Given the description of an element on the screen output the (x, y) to click on. 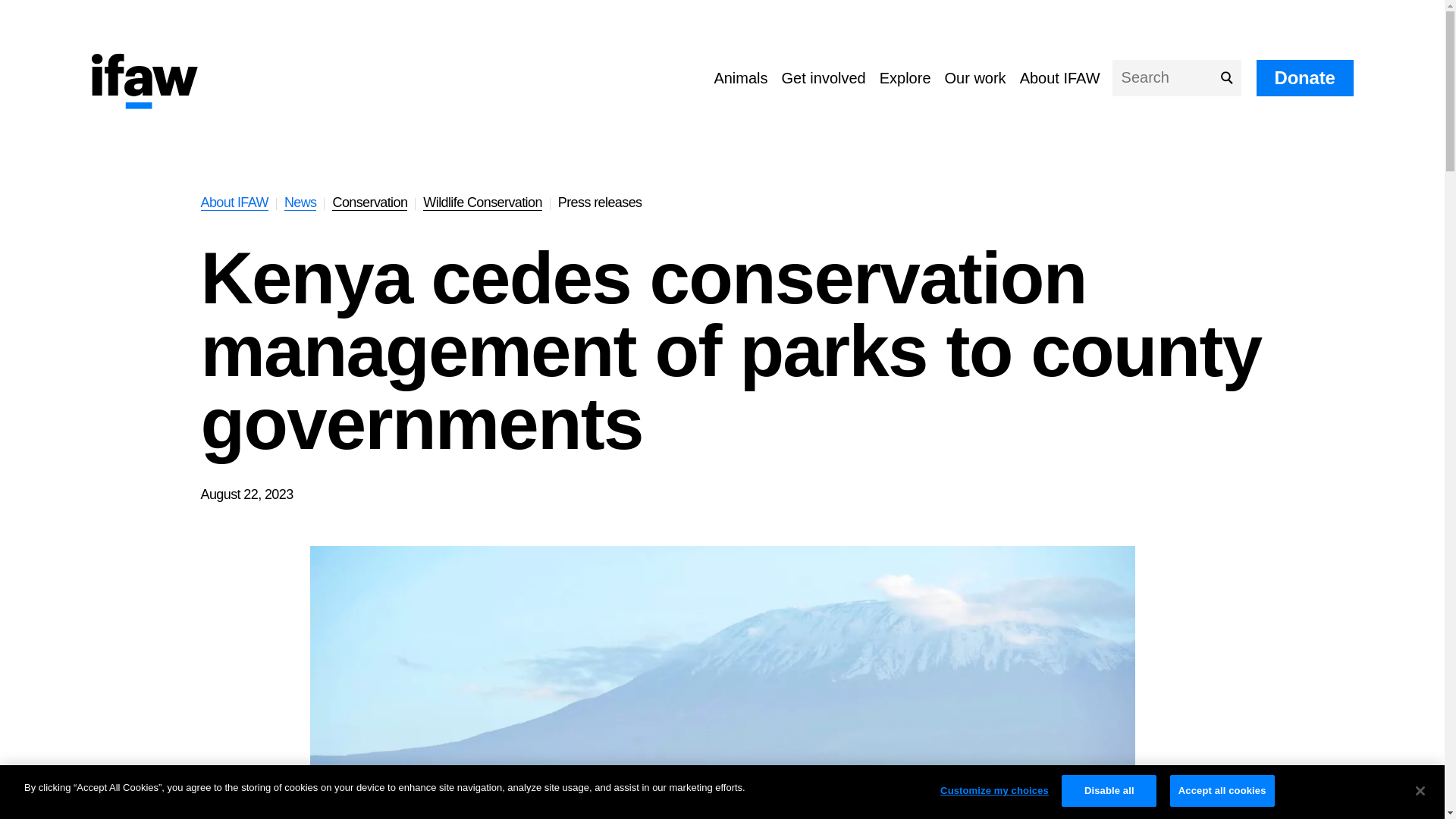
About IFAW (233, 202)
Donate (1305, 77)
Explore (905, 77)
About IFAW (1059, 77)
Get involved (823, 77)
Animals (739, 77)
News (300, 202)
Wildlife Conservation (482, 202)
Conservation (369, 202)
Our work (975, 77)
